Given the description of an element on the screen output the (x, y) to click on. 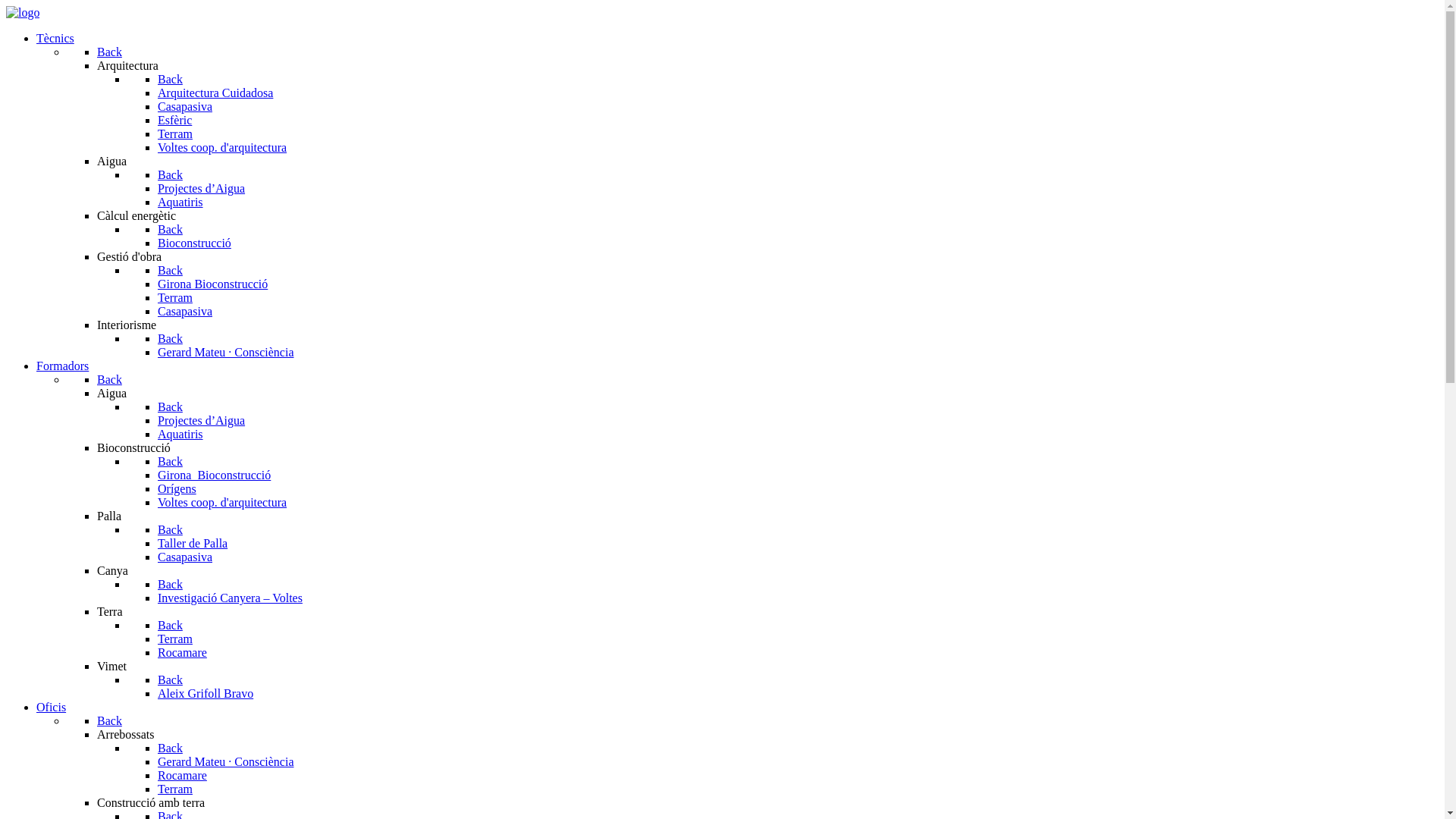
Back Element type: text (169, 529)
Casapasiva Element type: text (184, 556)
Rocamare Element type: text (182, 774)
Back Element type: text (169, 747)
Back Element type: text (169, 406)
Back Element type: text (109, 379)
Aquatiris Element type: text (180, 201)
Back Element type: text (169, 269)
Back Element type: text (109, 51)
Back Element type: text (169, 338)
Back Element type: text (109, 720)
Voltes coop. d'arquitectura Element type: text (221, 501)
Aleix Grifoll Bravo Element type: text (205, 693)
Rocamare Element type: text (182, 652)
Back Element type: text (169, 679)
Formadors Element type: text (62, 365)
Back Element type: text (169, 78)
logo Element type: hover (22, 12)
Casapasiva Element type: text (184, 310)
Terram Element type: text (174, 638)
Back Element type: text (169, 583)
Back Element type: text (169, 174)
Taller de Palla Element type: text (192, 542)
Terram Element type: text (174, 133)
Casapasiva Element type: text (184, 106)
Aquatiris Element type: text (180, 433)
Terram Element type: text (174, 788)
Terram Element type: text (174, 297)
Oficis Element type: text (50, 706)
Arquitectura Cuidadosa Element type: text (215, 92)
Back Element type: text (169, 228)
Back Element type: text (169, 624)
Voltes coop. d'arquitectura Element type: text (221, 147)
Back Element type: text (169, 461)
